Given the description of an element on the screen output the (x, y) to click on. 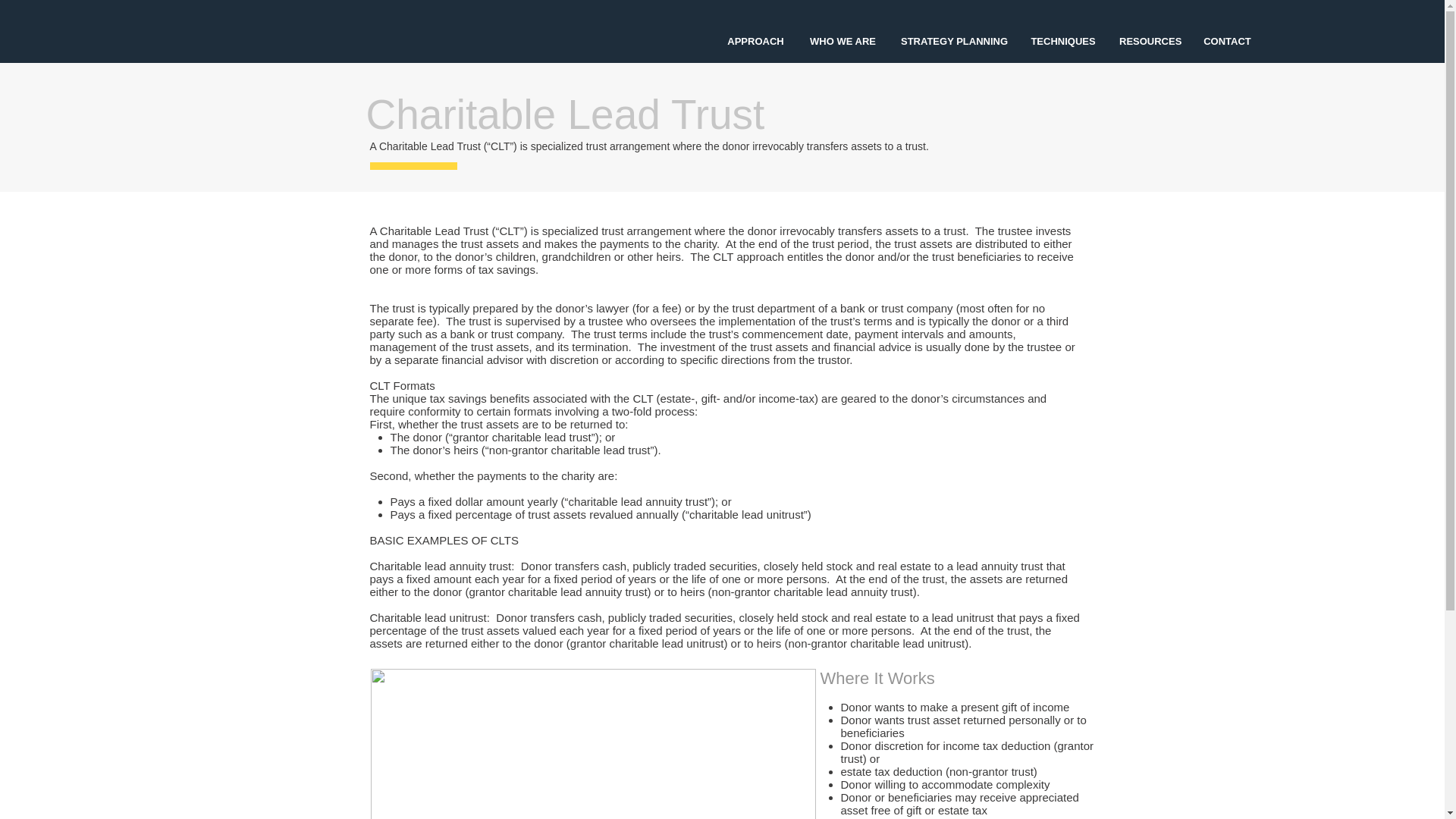
CONTACT (1227, 41)
TECHNIQUES (1062, 41)
APPROACH (755, 41)
RESOURCES (1149, 41)
WHO WE ARE (842, 41)
STRATEGY PLANNING (953, 41)
